Given the description of an element on the screen output the (x, y) to click on. 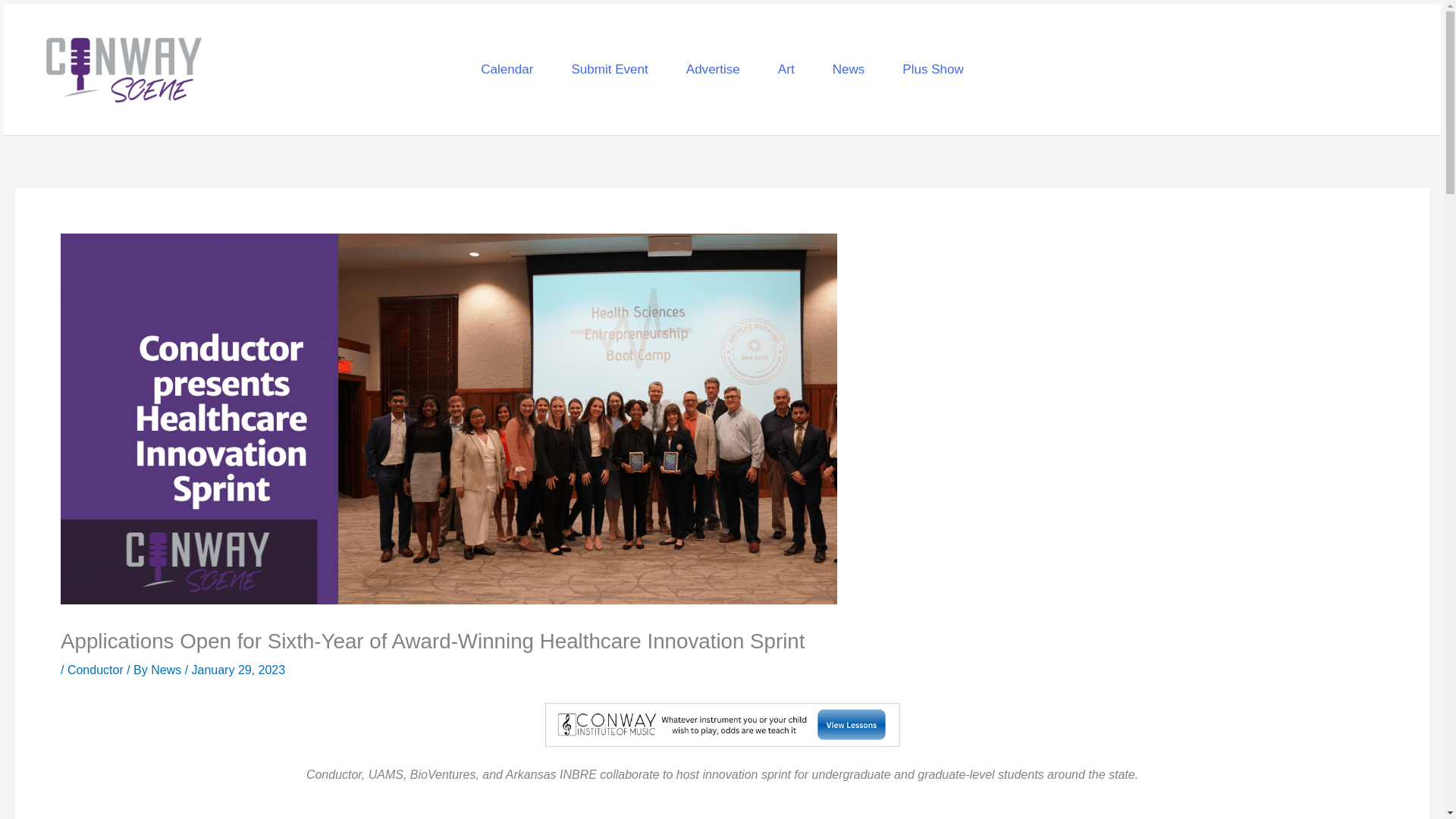
Advertise (712, 69)
Conductor (94, 669)
News (167, 669)
Submit Event (608, 69)
Plus Show (932, 69)
View all posts by News (167, 669)
